Given the description of an element on the screen output the (x, y) to click on. 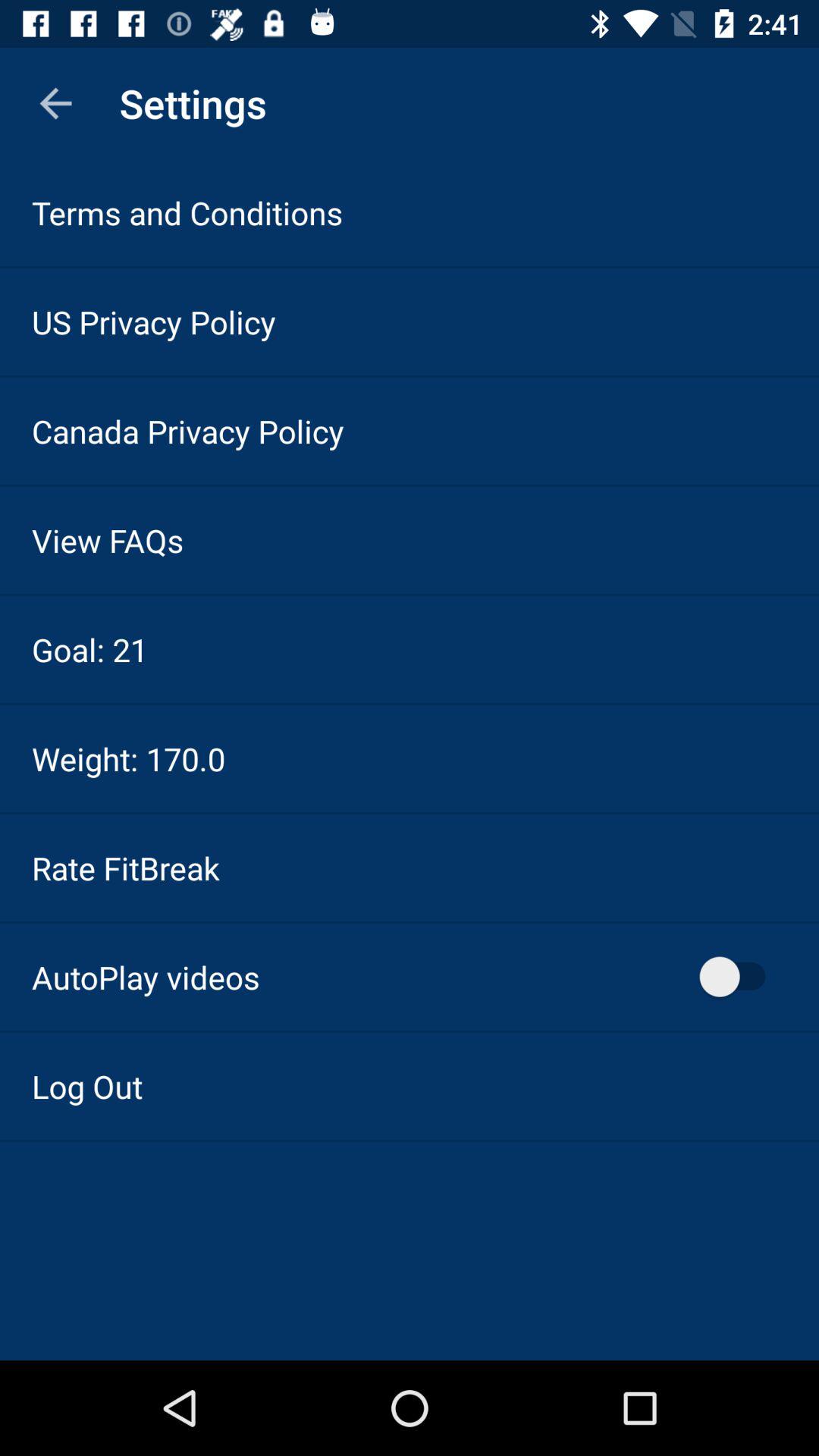
tap the app to the left of the settings app (55, 103)
